Given the description of an element on the screen output the (x, y) to click on. 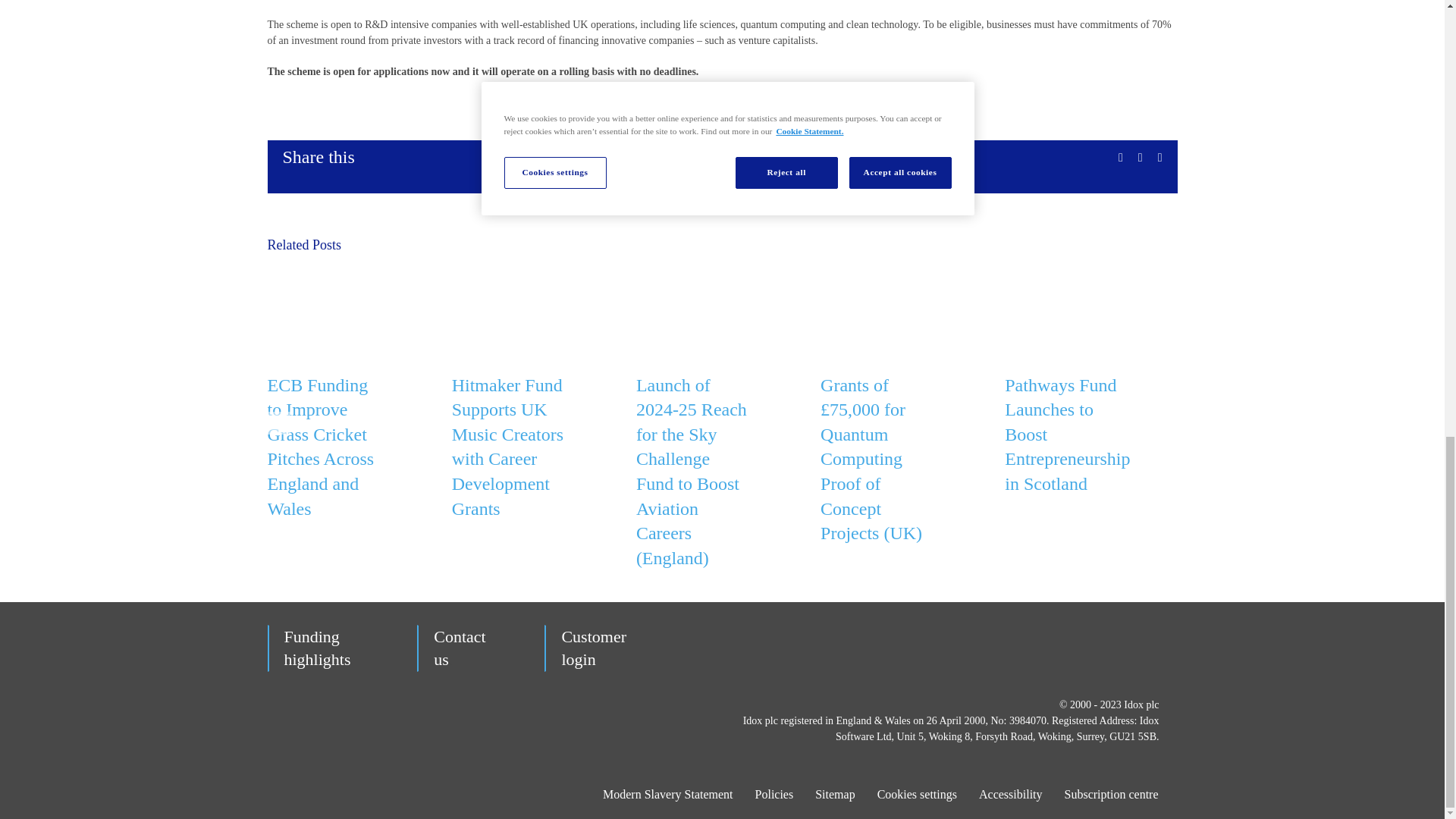
Pathways Fund Launches to Boost Entrepreneurship in Scotland (1066, 434)
